Given the description of an element on the screen output the (x, y) to click on. 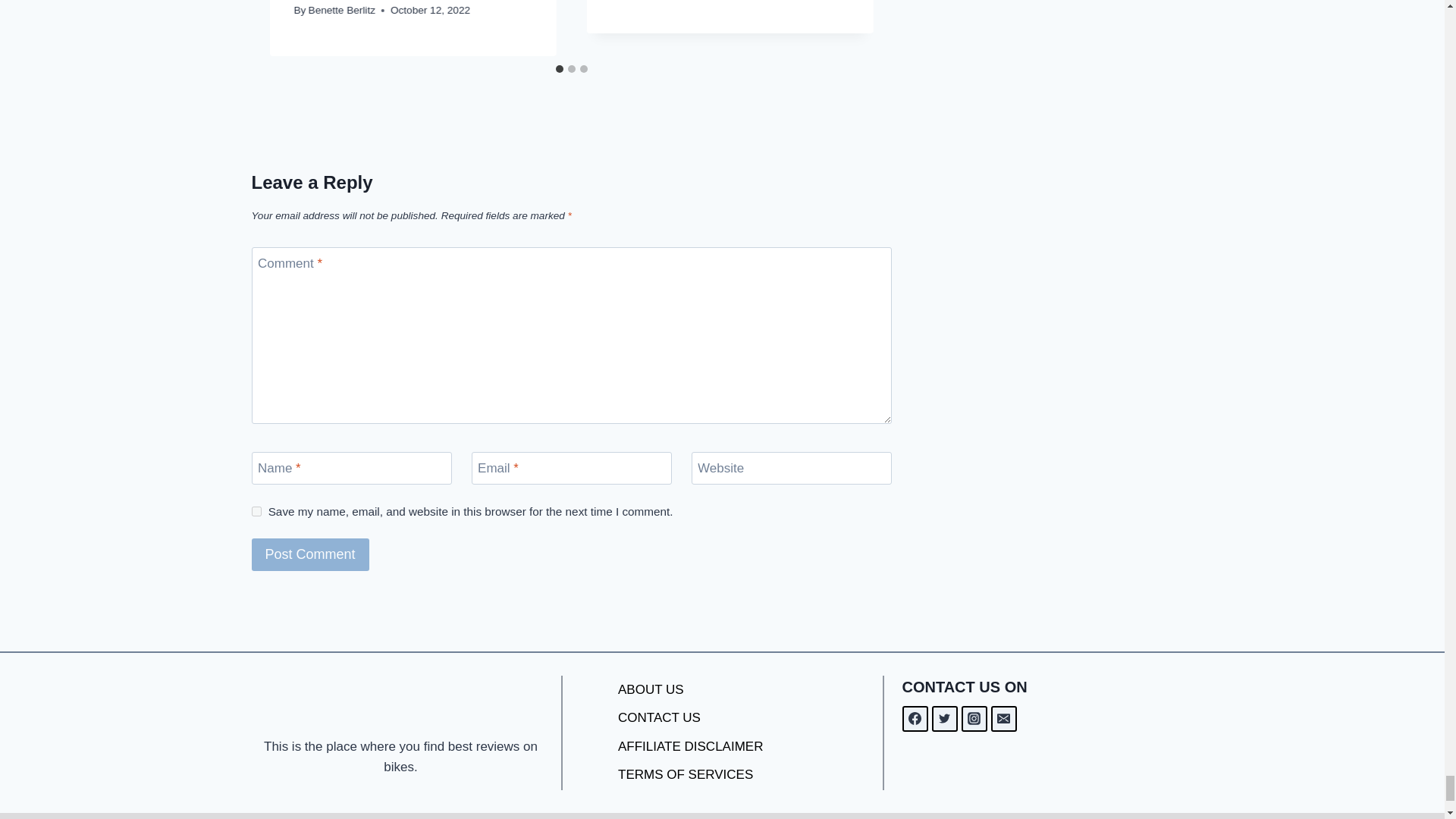
Post Comment (310, 554)
Benette Berlitz (341, 9)
yes (256, 511)
